Given the description of an element on the screen output the (x, y) to click on. 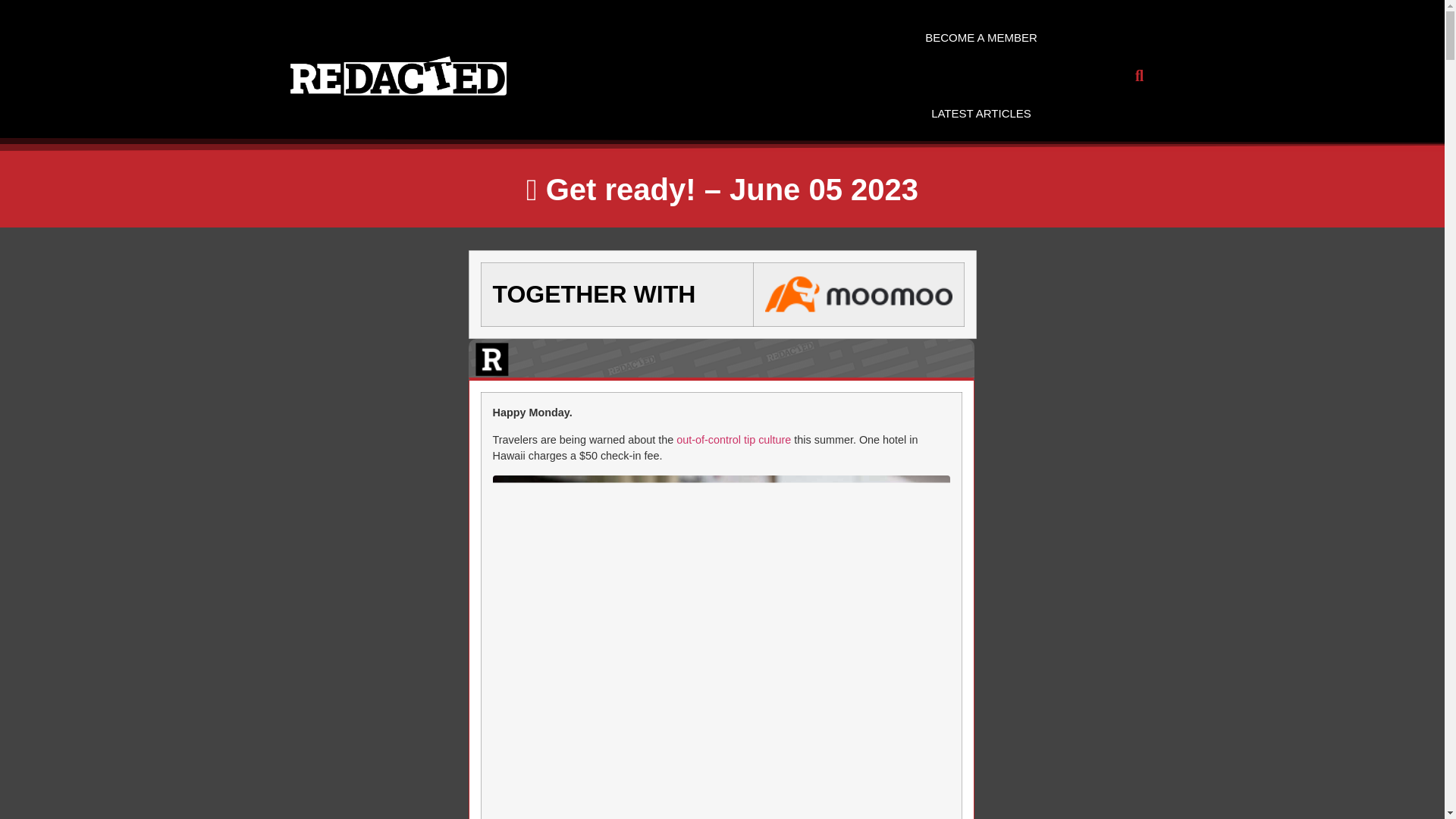
LATEST ARTICLES (980, 113)
BECOME A MEMBER (981, 38)
out-of-control tip culture (733, 439)
